Given the description of an element on the screen output the (x, y) to click on. 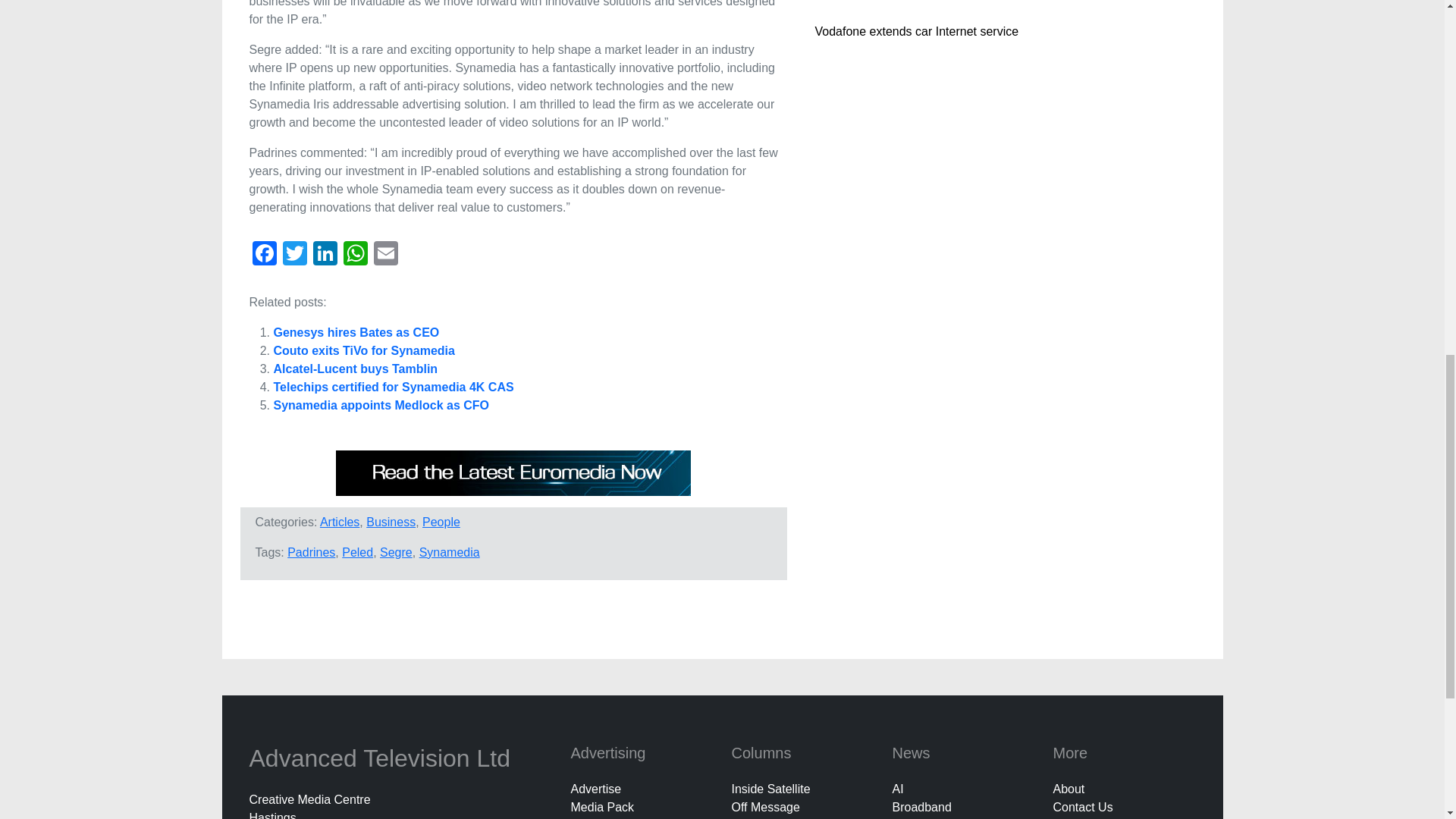
Segre (396, 552)
Synamedia appoints Medlock as CFO (381, 404)
Genesys hires Bates as CEO (356, 332)
Telechips certified for Synamedia 4K CAS (393, 386)
Twitter (293, 254)
WhatsApp (354, 254)
Genesys hires Bates as CEO (356, 332)
Alcatel-Lucent buys Tamblin (355, 368)
WhatsApp (354, 254)
Synamedia (449, 552)
Couto exits TiVo for Synamedia (363, 350)
Facebook (263, 254)
Email (384, 254)
Padrines (310, 552)
Articles (339, 521)
